Given the description of an element on the screen output the (x, y) to click on. 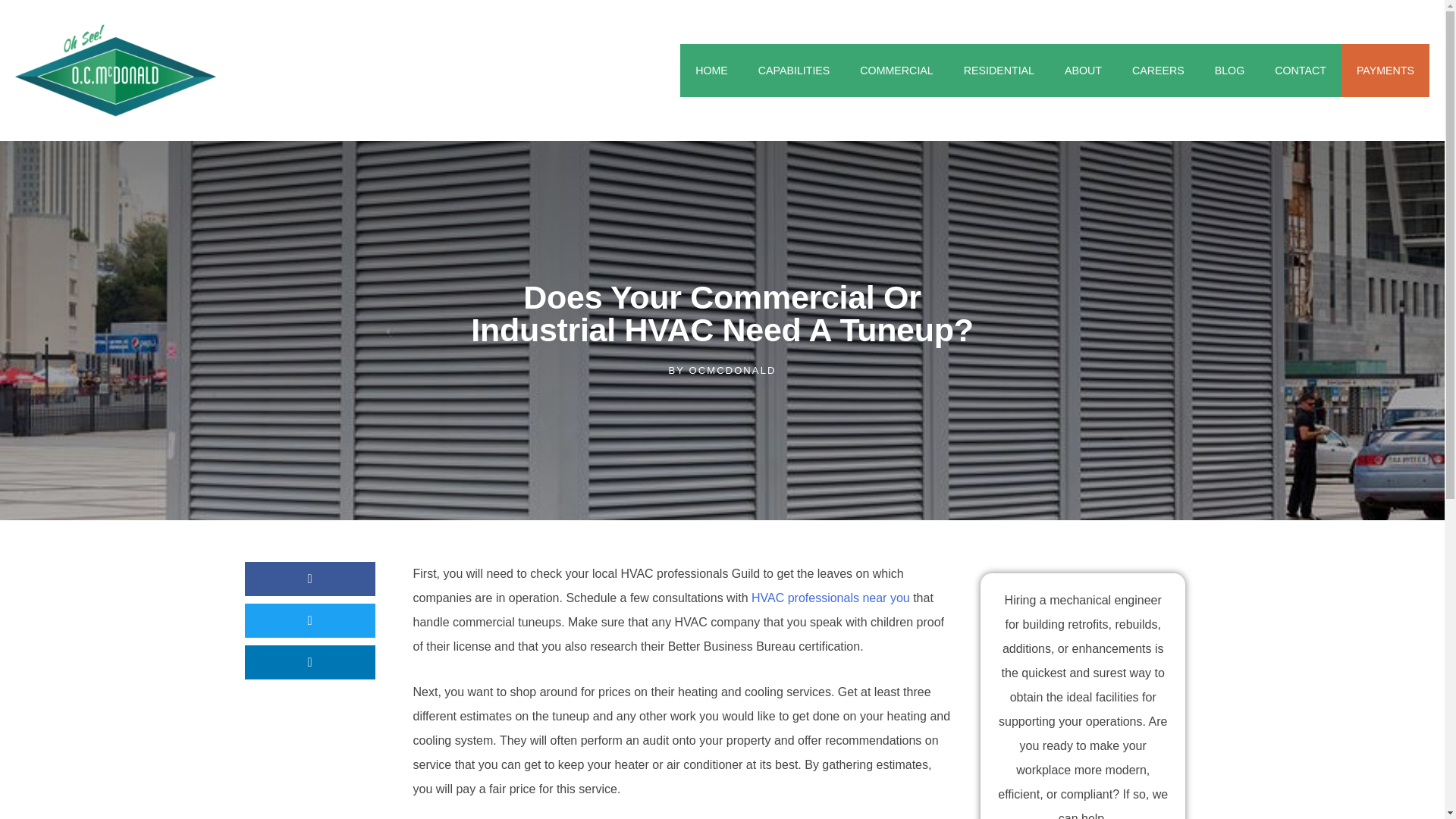
BY OCMCDONALD (722, 370)
PAYMENTS (1384, 70)
CAPABILITIES (793, 70)
ABOUT (1082, 70)
COMMERCIAL (895, 70)
BLOG (1229, 70)
CONTACT (1299, 70)
HVAC professionals near you (830, 597)
RESIDENTIAL (999, 70)
CAREERS (1157, 70)
